Given the description of an element on the screen output the (x, y) to click on. 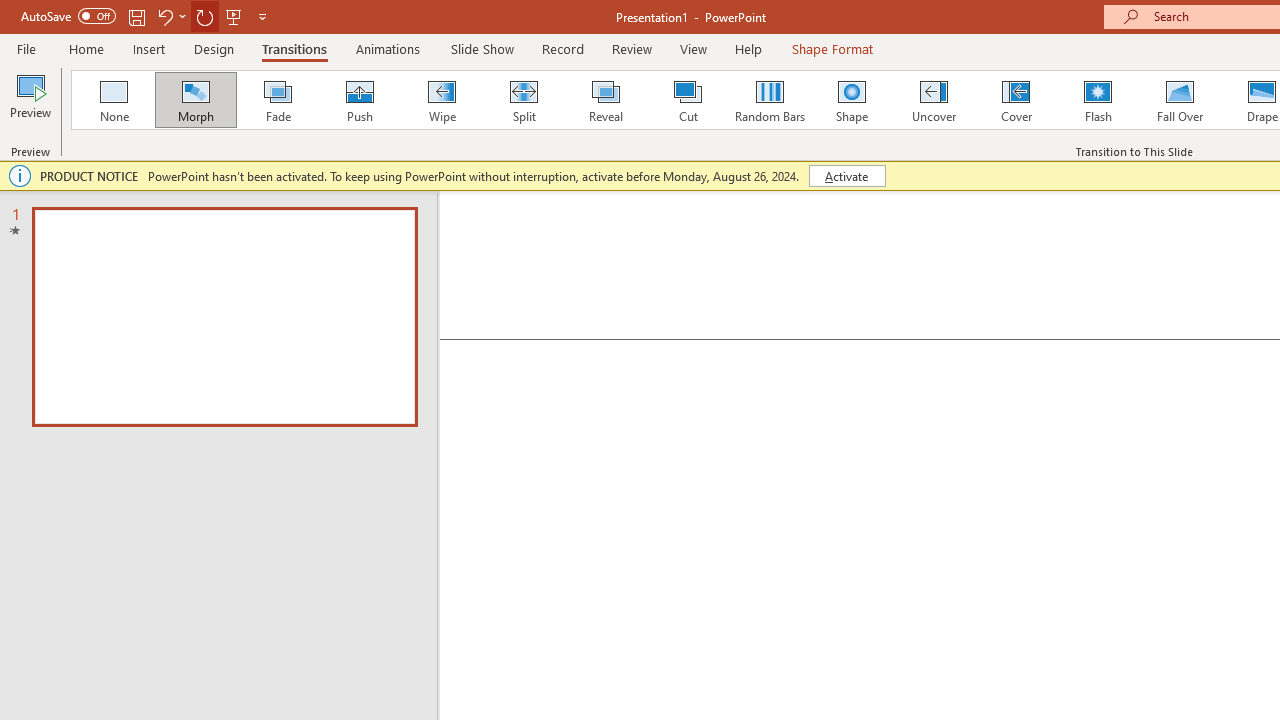
Split (523, 100)
Activate (846, 175)
Cover (1016, 100)
None (113, 100)
Flash (1098, 100)
Shape Format (832, 48)
Fall Over (1180, 100)
